Given the description of an element on the screen output the (x, y) to click on. 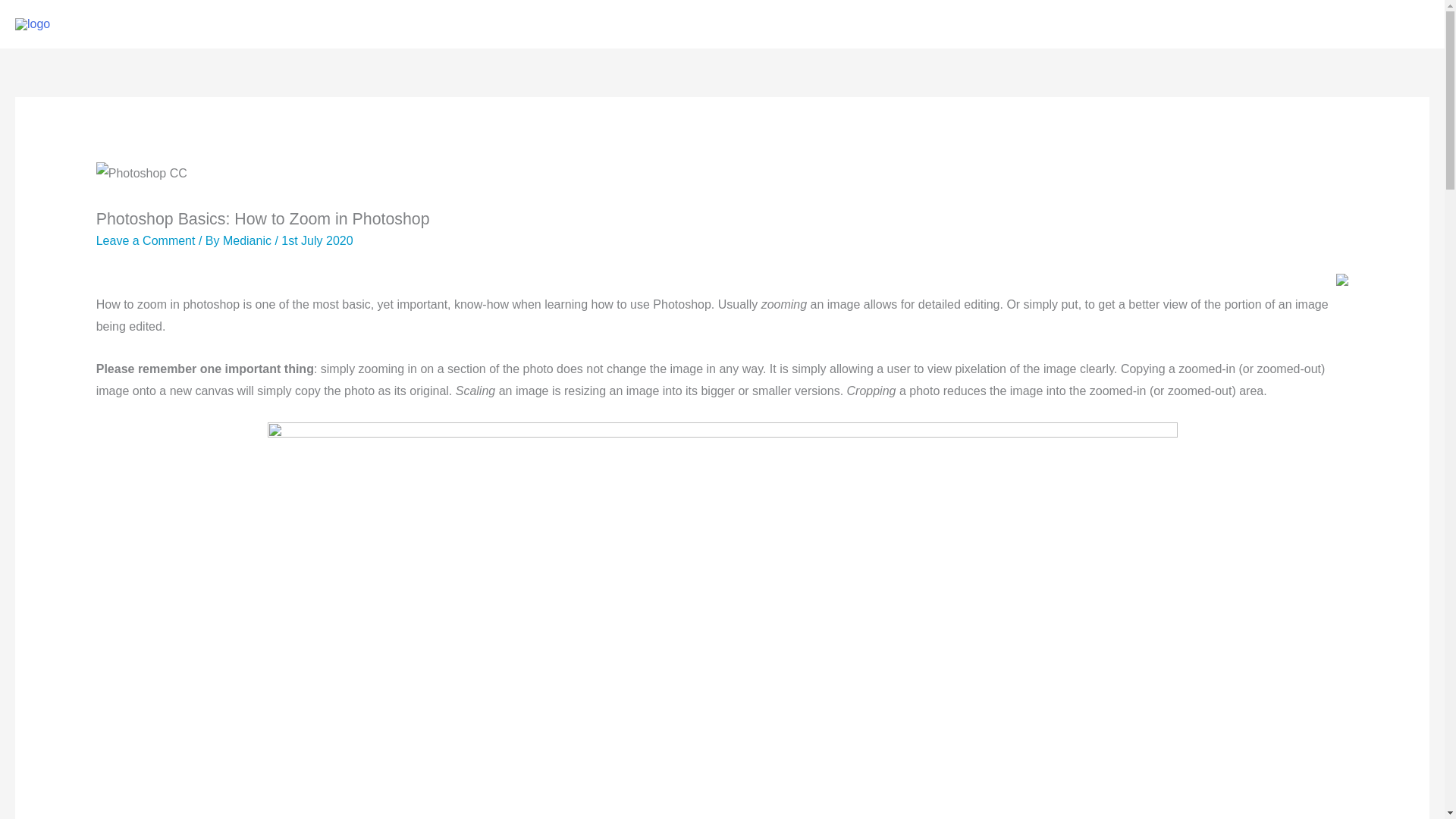
Medianic (248, 240)
About Us (1256, 24)
Leave a Comment (145, 240)
Home (1010, 24)
Contact (1392, 24)
Portfolio (1178, 24)
News (1326, 24)
What We Do (1091, 24)
View all posts by Medianic (248, 240)
